Given the description of an element on the screen output the (x, y) to click on. 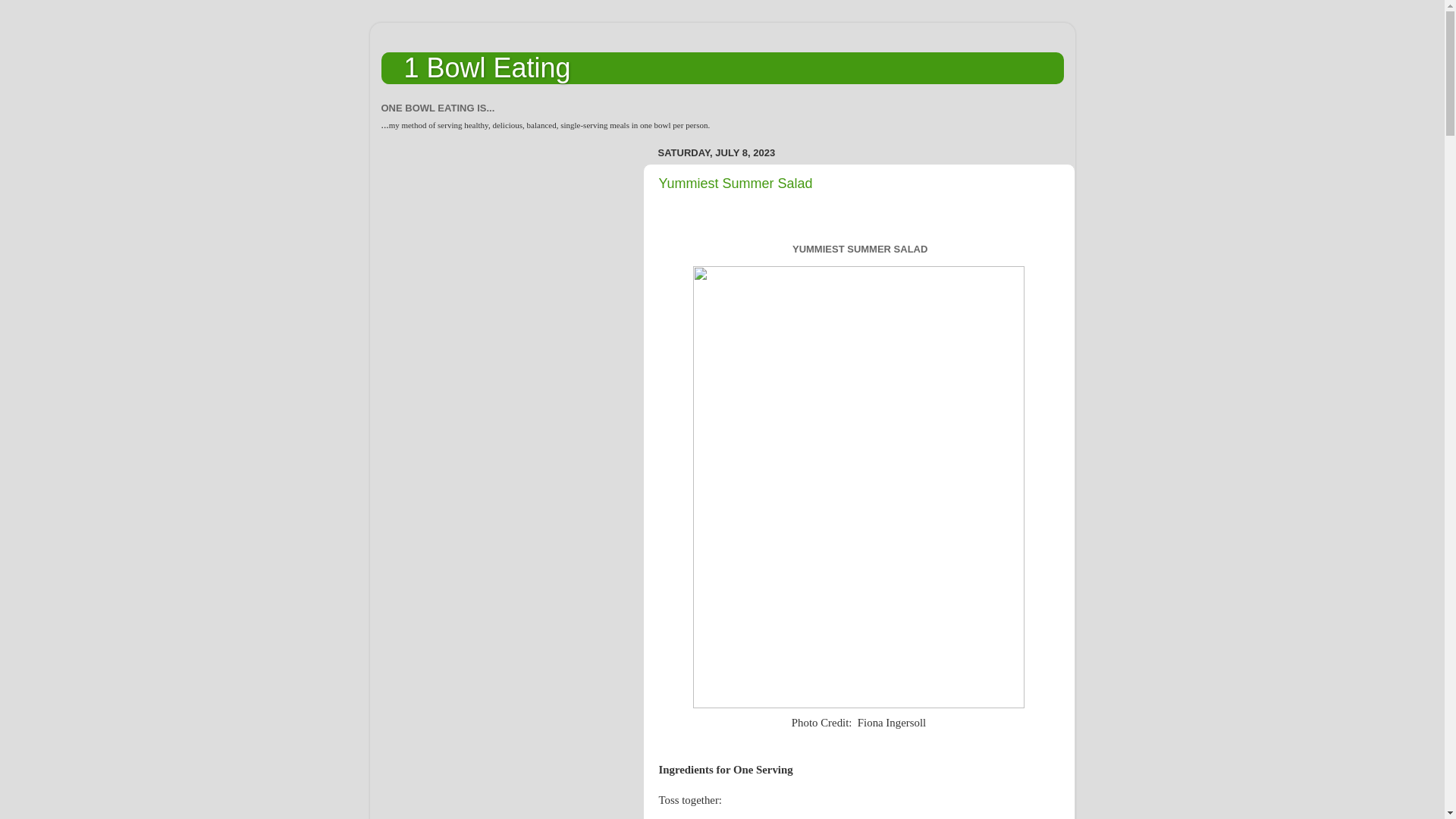
Yummiest Summer Salad Element type: text (735, 183)
